Given the description of an element on the screen output the (x, y) to click on. 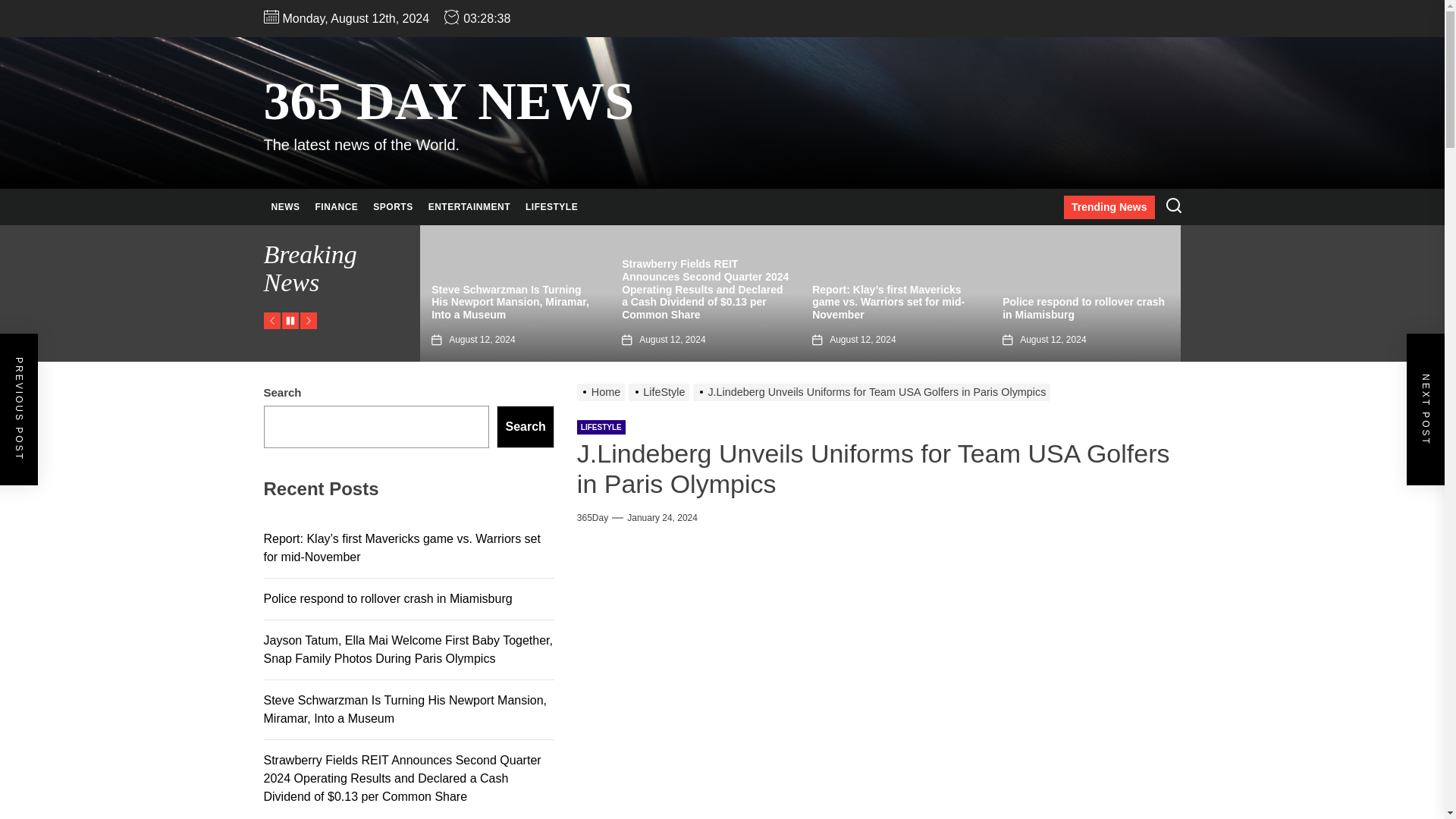
ENTERTAINMENT (469, 207)
Trending News (1109, 207)
LIFESTYLE (551, 207)
365 DAY NEWS (448, 101)
SPORTS (392, 207)
NEWS (285, 207)
FINANCE (336, 207)
